Given the description of an element on the screen output the (x, y) to click on. 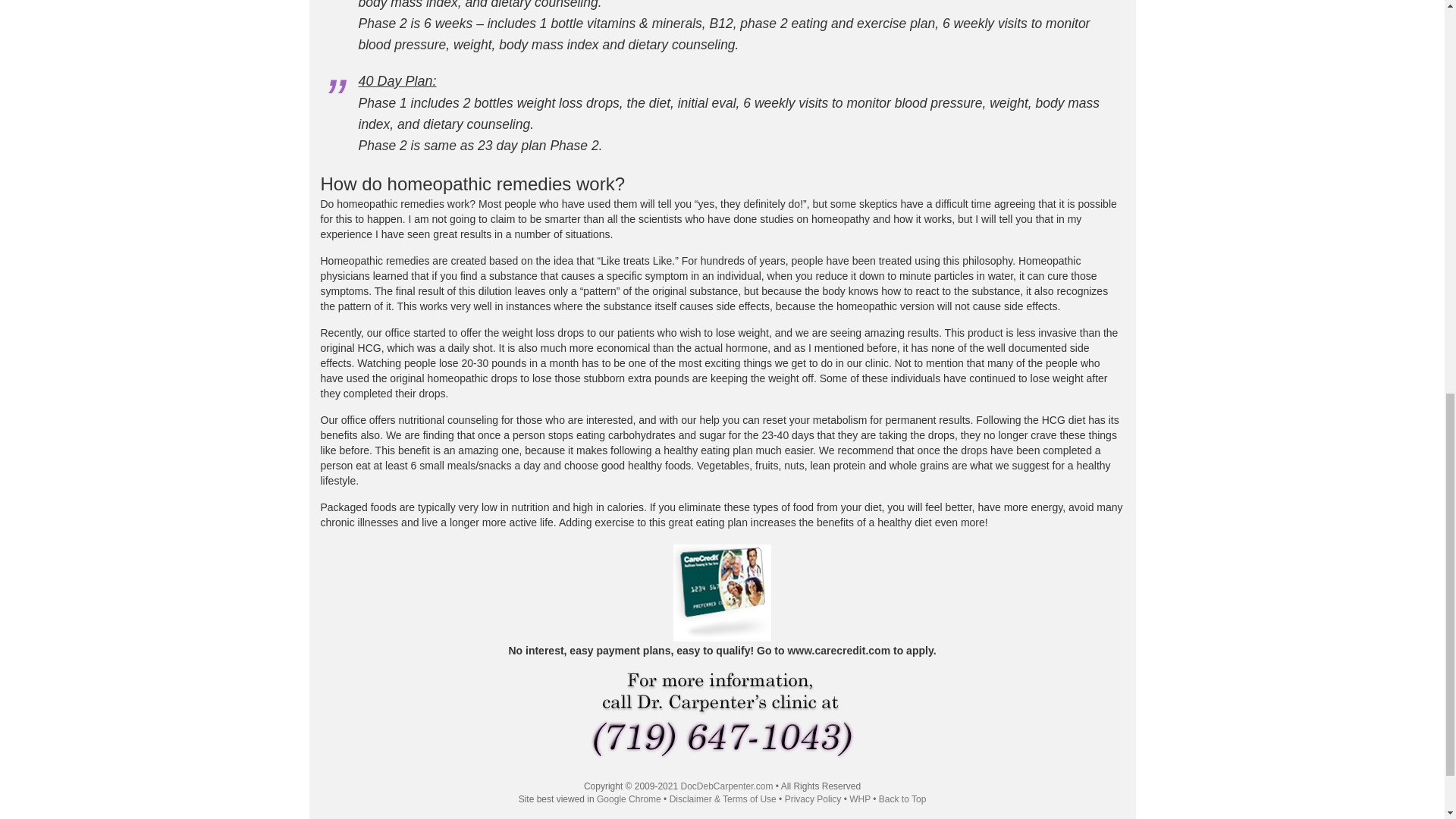
WHP (859, 798)
Privacy Policy (812, 798)
Google Chrome (628, 798)
www.carecredit.com (838, 650)
DocDebCarpenter.com (726, 786)
Back to Top (902, 798)
